Given the description of an element on the screen output the (x, y) to click on. 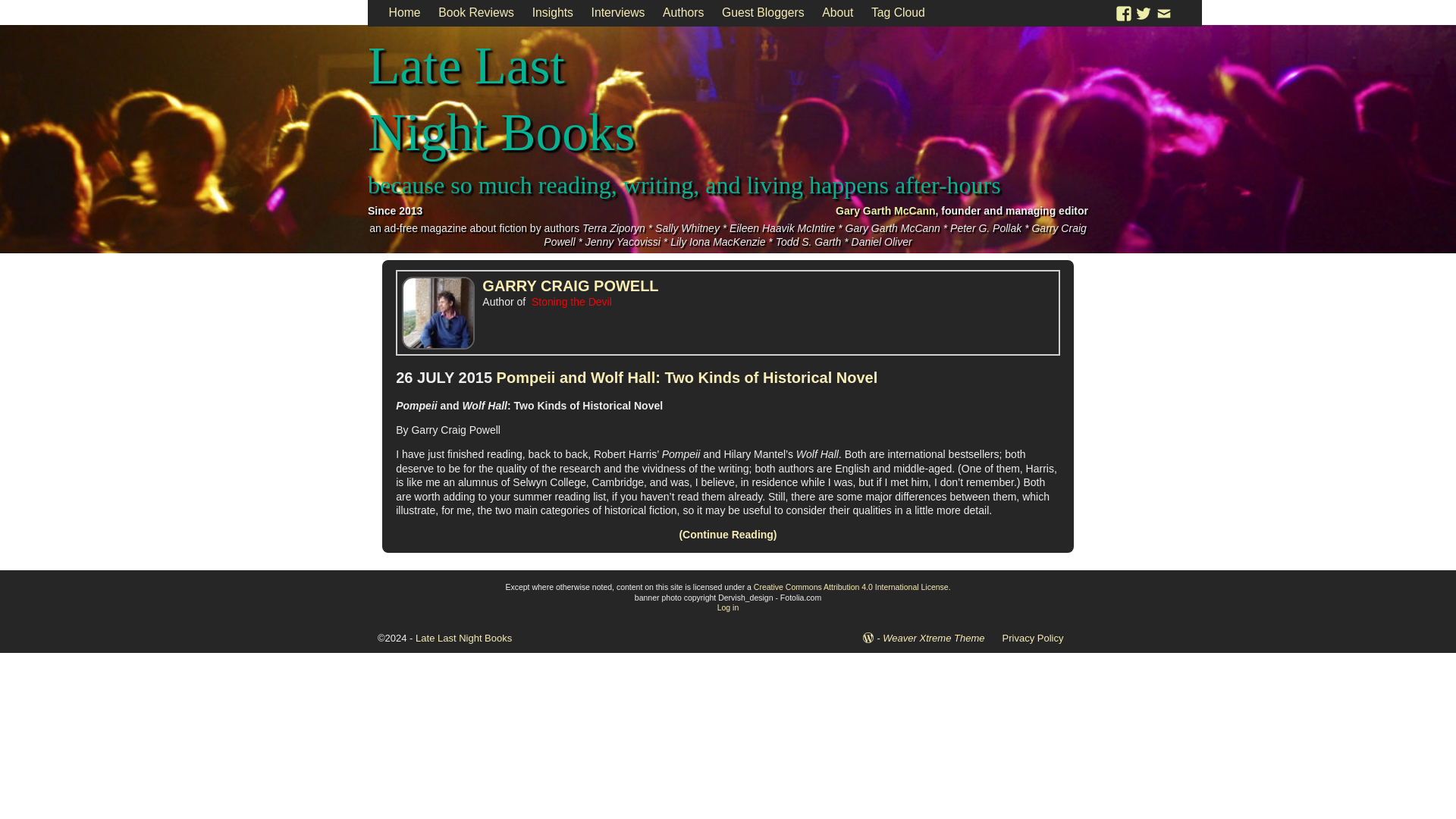
Pompeii and Wolf Hall: Two Kinds of Historical Novel (686, 377)
About (836, 13)
Interviews (617, 13)
Gary Garth McCann (884, 210)
Authors (683, 13)
Subscribe to receive email updates (1164, 12)
Creative Commons Attribution 4.0 International License (851, 586)
Tag Cloud (897, 13)
Facebook: social networking (1123, 12)
Log in (728, 606)
GARRY CRAIG POWELL (569, 285)
Insights (552, 13)
Twitter (1143, 12)
Guest Bloggers (762, 13)
Book Reviews (475, 13)
